Given the description of an element on the screen output the (x, y) to click on. 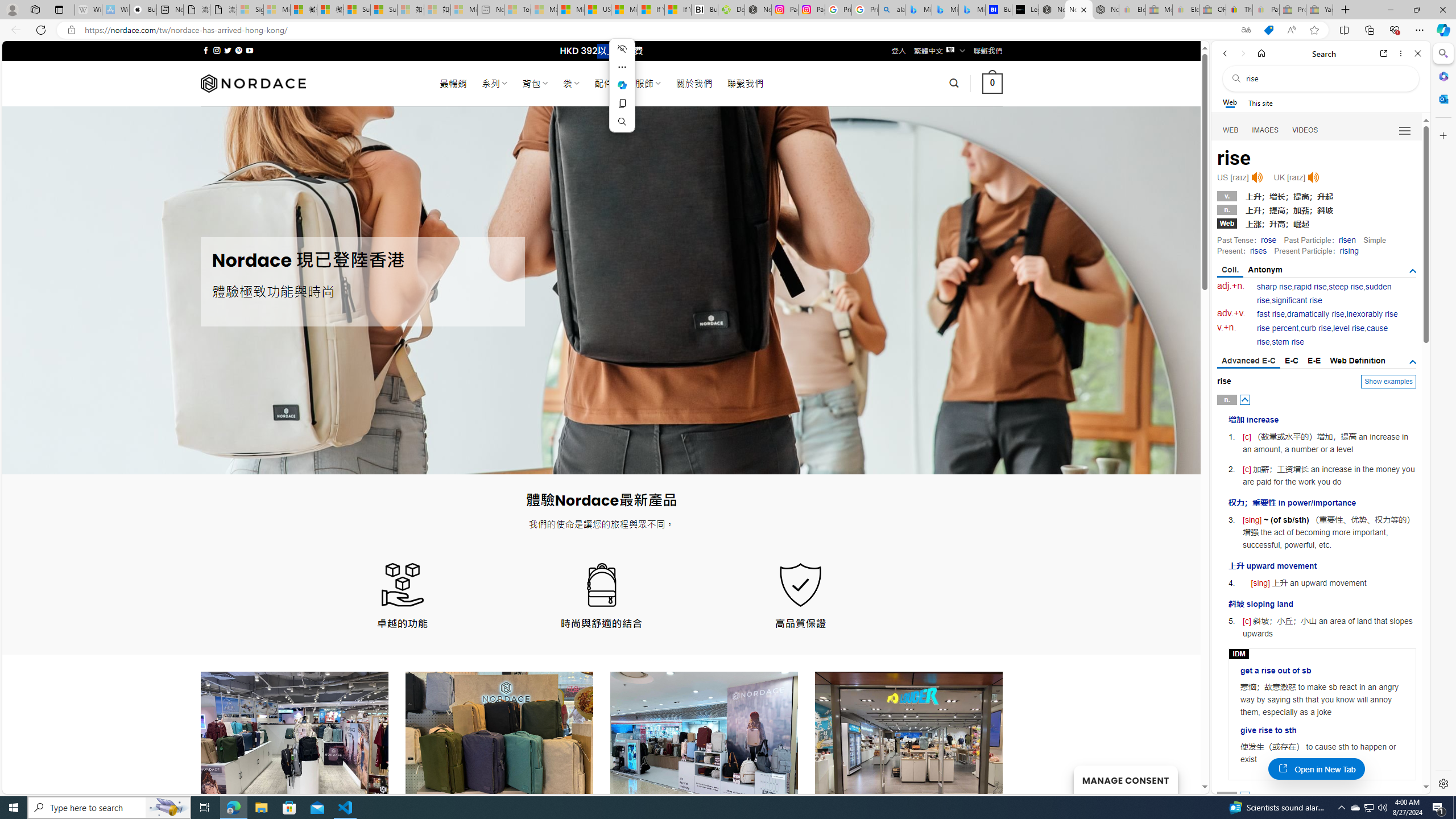
Descarga Driver Updater (731, 9)
AutomationID: tgsb (1412, 270)
sudden rise (1323, 293)
Follow on Twitter (227, 50)
Top Stories - MSN - Sleeping (517, 9)
Show translate options (1245, 29)
